Given the description of an element on the screen output the (x, y) to click on. 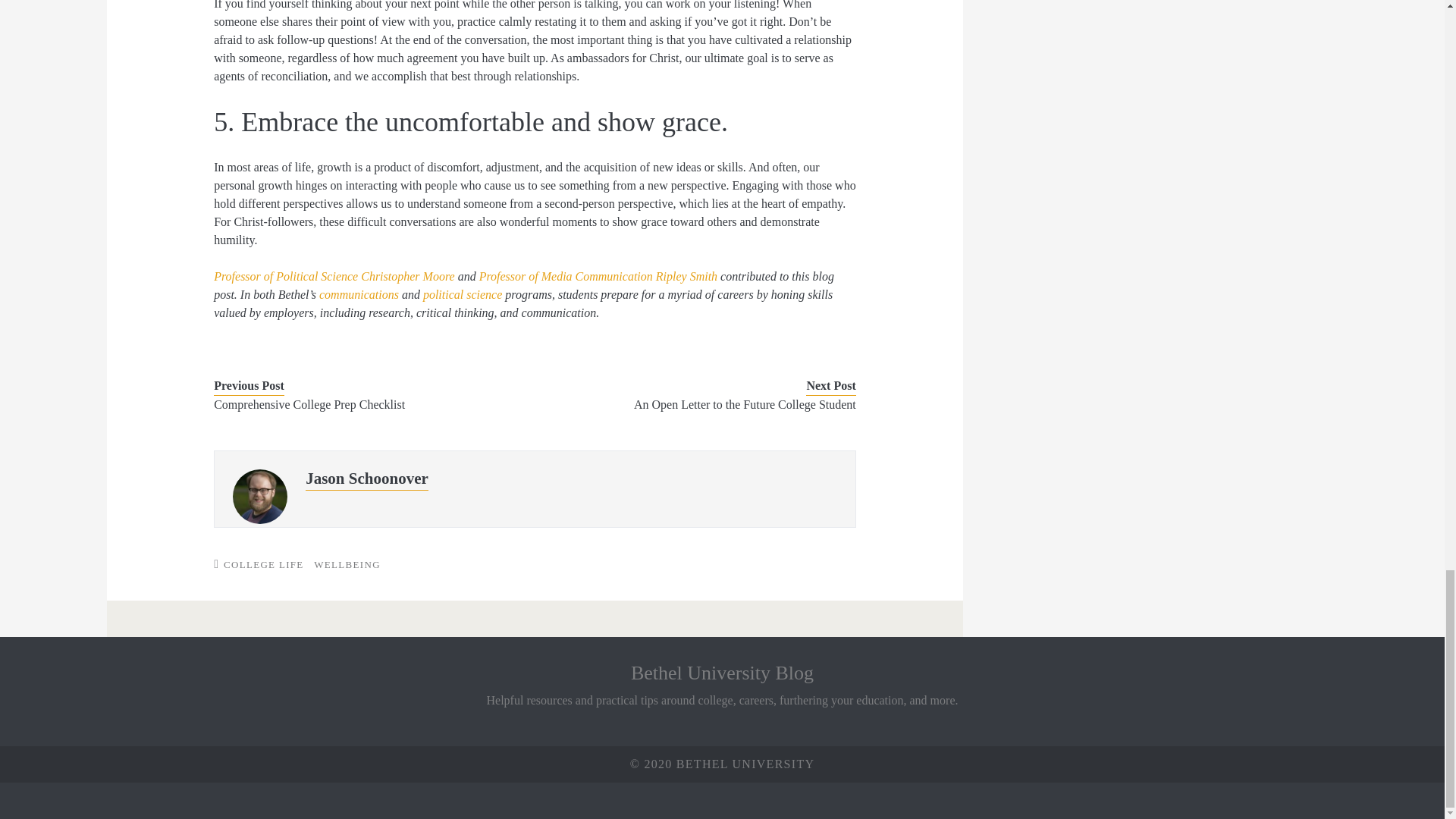
Bethel University Blog (721, 672)
An Open Letter to the Future College Student (708, 404)
Professor of Political Science Christopher Moore (334, 276)
Professor of Media Communication Ripley Smith (598, 276)
WELLBEING (347, 564)
communications (358, 294)
View all posts in Wellbeing (347, 564)
View all posts in College Life (264, 564)
Comprehensive College Prep Checklist (361, 404)
COLLEGE LIFE (264, 564)
political science (462, 294)
